Given the description of an element on the screen output the (x, y) to click on. 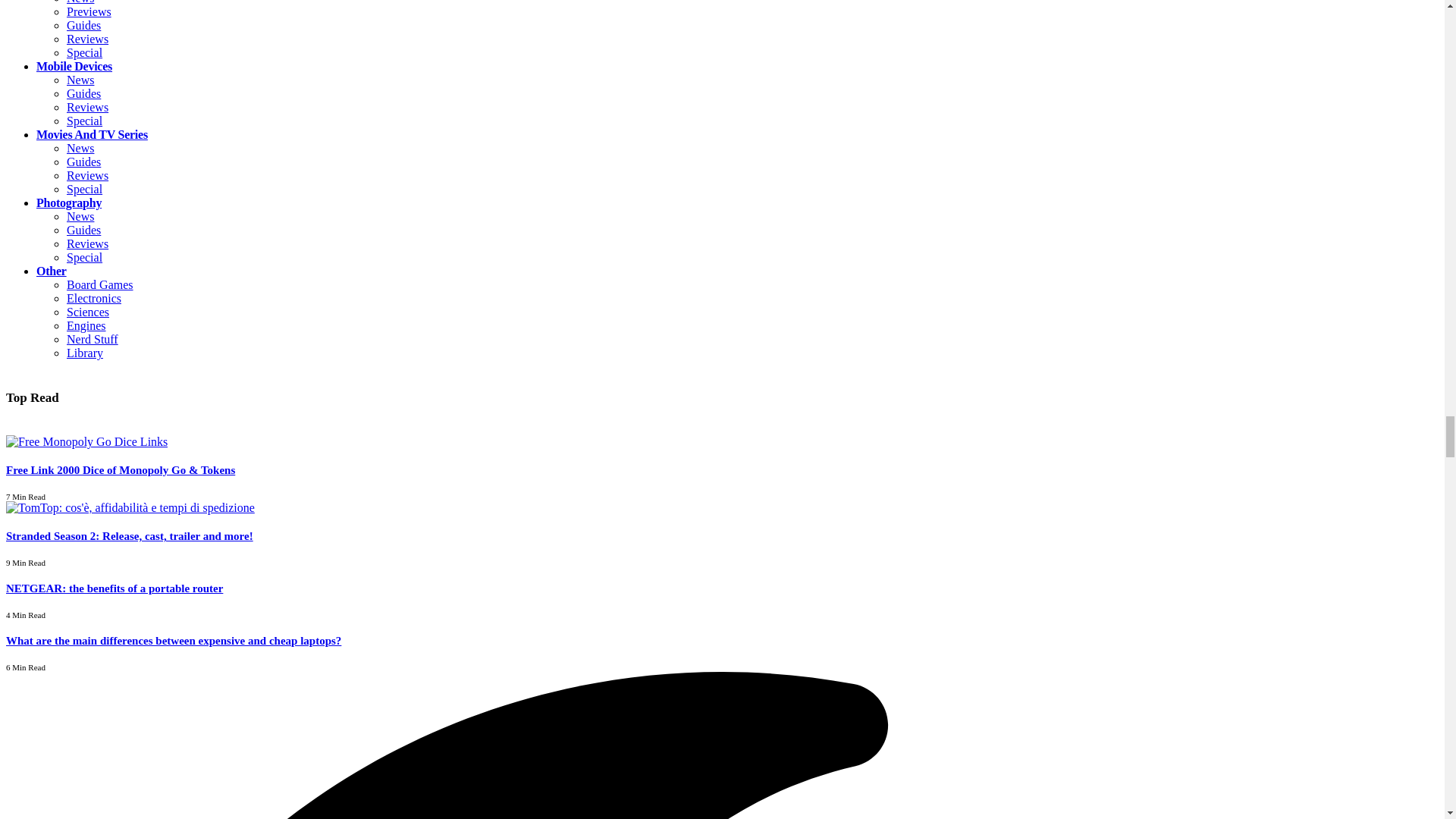
NETGEAR: the benefits of a portable router (113, 588)
Stranded Season 2: Release, cast, trailer and more! (129, 507)
Stranded Season 2: Release, cast, trailer and more! (129, 535)
